Given the description of an element on the screen output the (x, y) to click on. 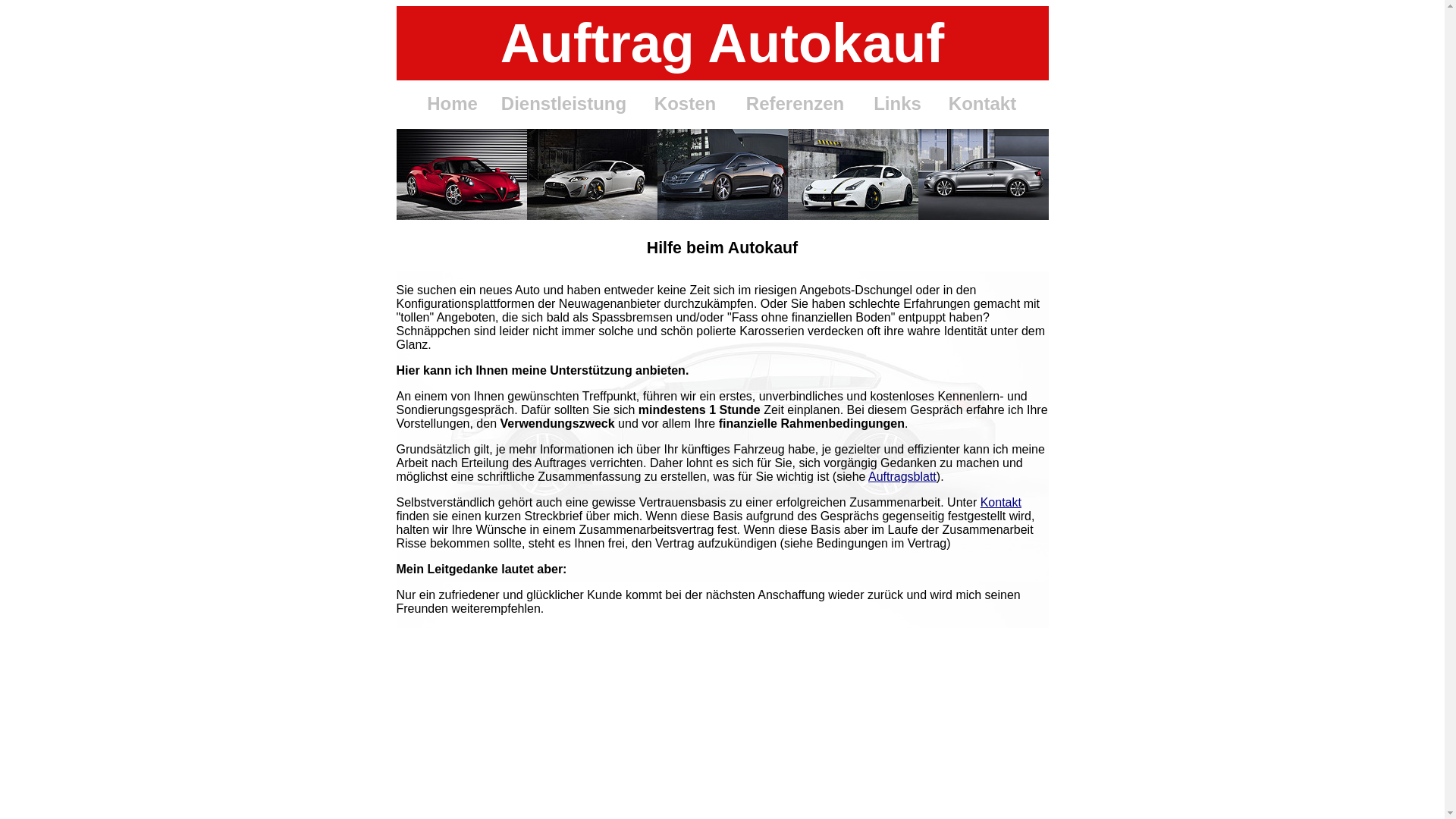
Kontakt Element type: text (1000, 501)
Dienstleistung Element type: text (563, 103)
Kosten Element type: text (684, 103)
Links Element type: text (897, 103)
Auftragsblatt Element type: text (902, 476)
Kontakt Element type: text (982, 103)
Referenzen Element type: text (795, 103)
Home Element type: text (451, 103)
